Given the description of an element on the screen output the (x, y) to click on. 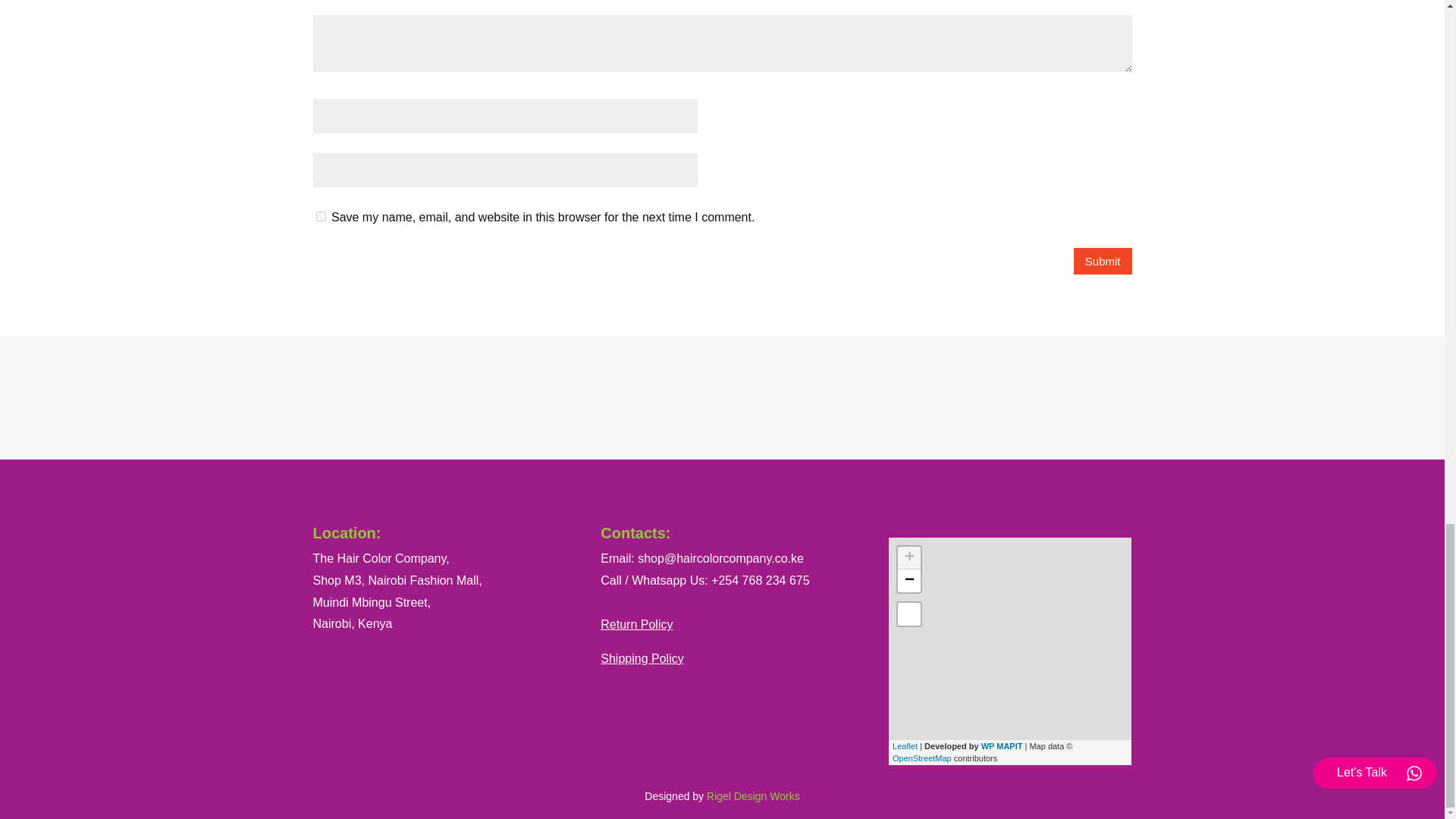
yes (319, 216)
